Given the description of an element on the screen output the (x, y) to click on. 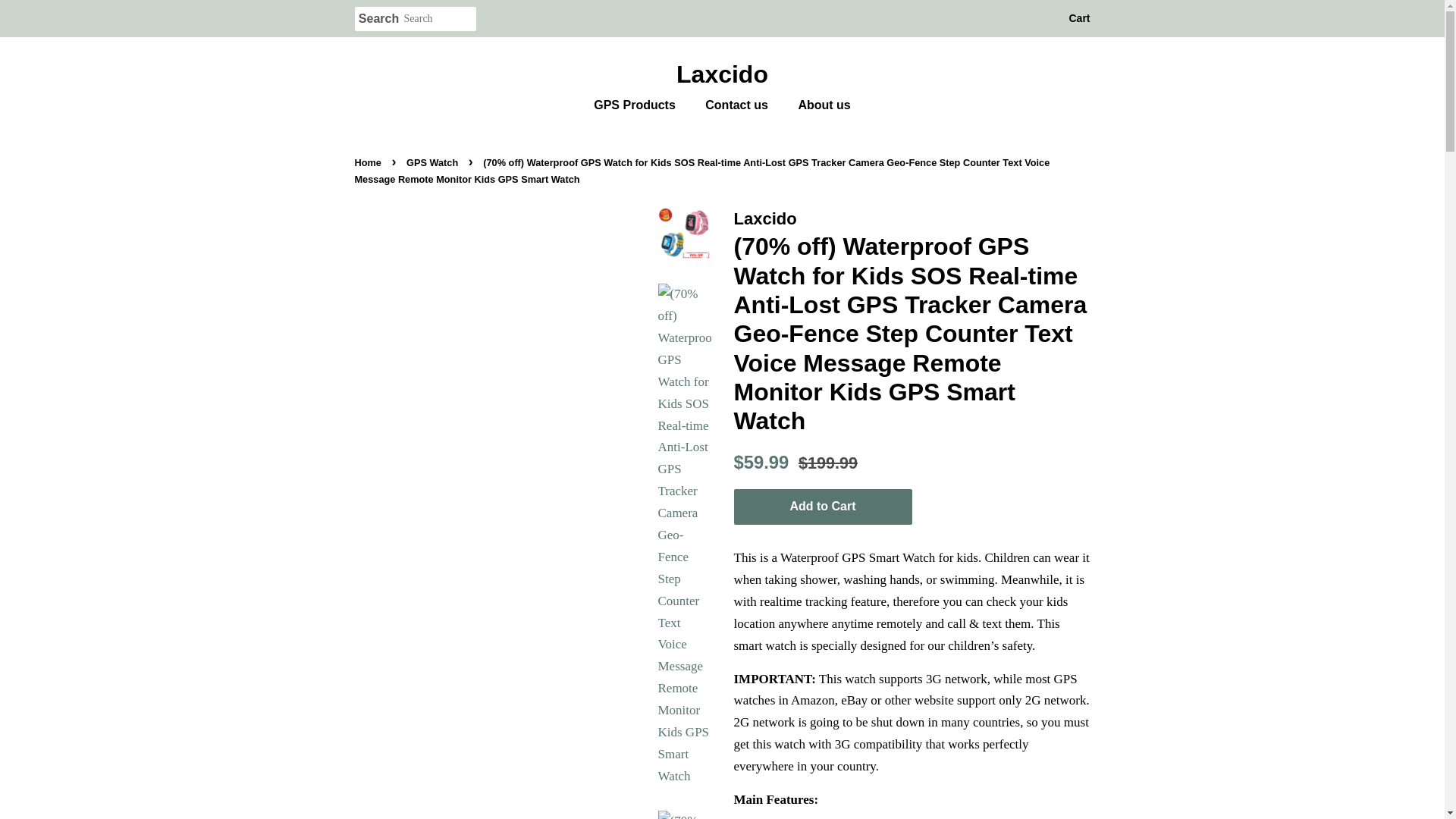
GPS Products (642, 104)
GPS Watch (433, 162)
Home (370, 162)
Back to the frontpage (370, 162)
Cart (1078, 18)
Laxcido (722, 73)
About us (818, 104)
Contact us (738, 104)
Search (379, 18)
Add to Cart (822, 506)
